Given the description of an element on the screen output the (x, y) to click on. 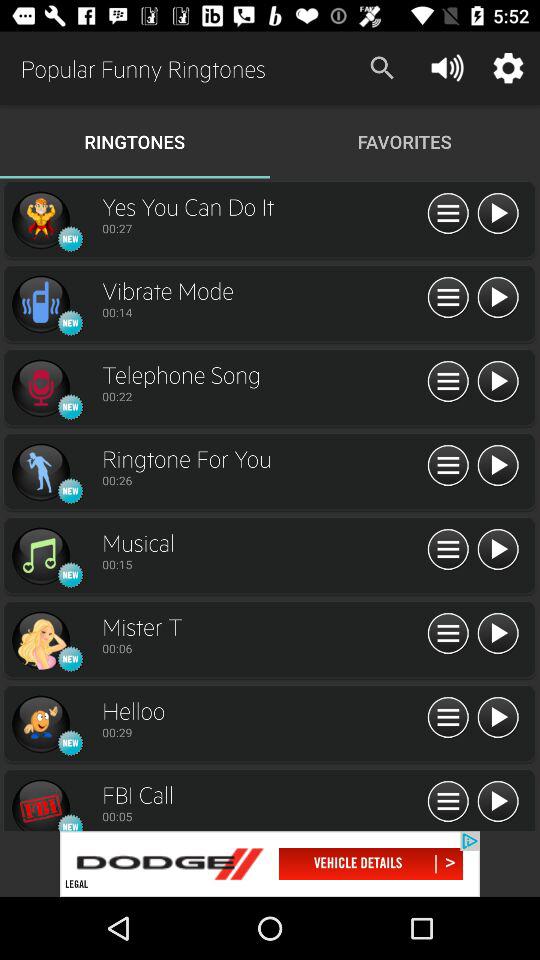
menu icon (447, 465)
